Given the description of an element on the screen output the (x, y) to click on. 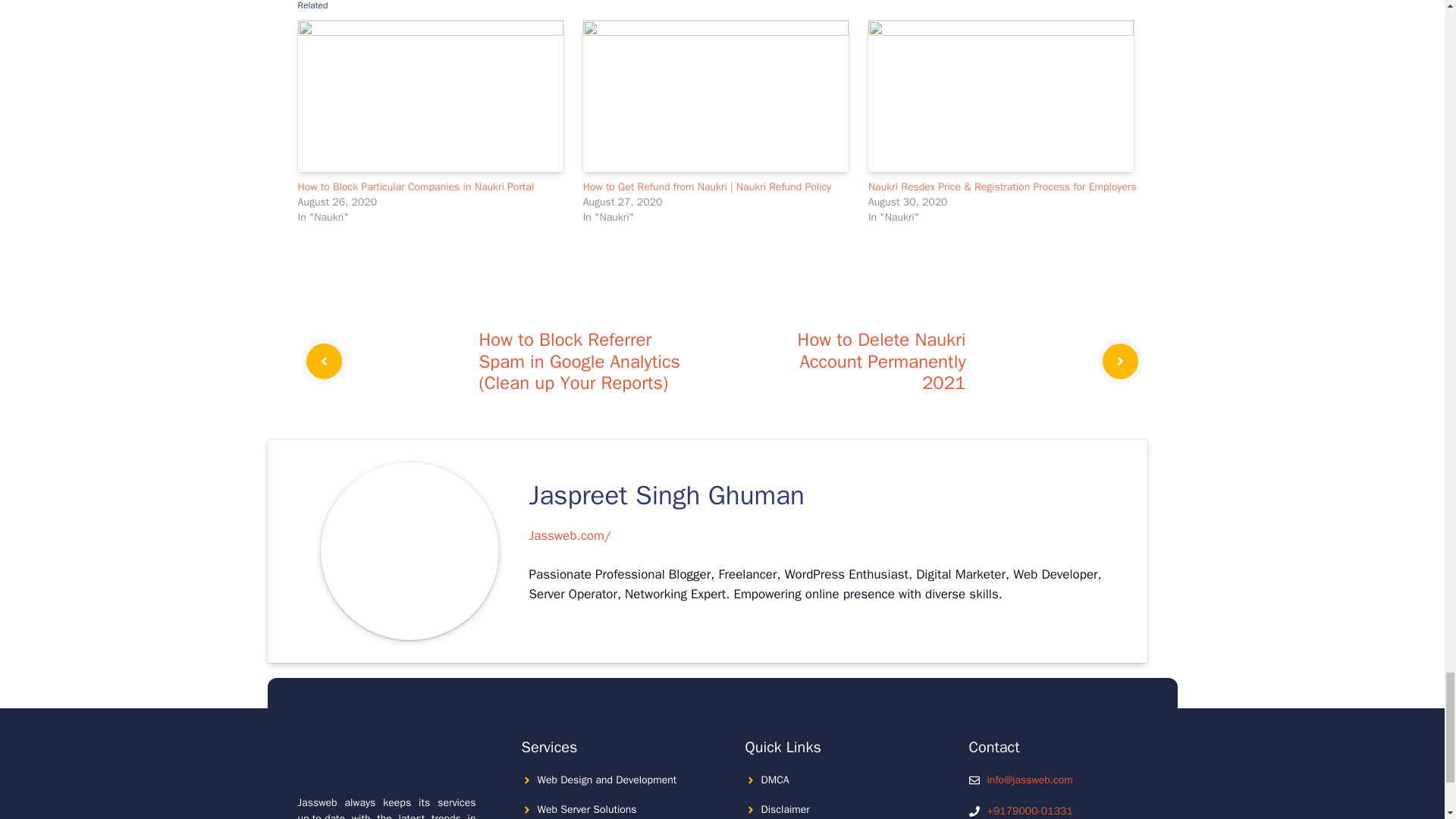
How to Delete Naukri Account Permanently 2021 (881, 361)
How to Block Particular Companies in Naukri Portal (415, 186)
How to Block Particular Companies in Naukri Portal (432, 95)
How to Block Particular Companies in Naukri Portal (415, 186)
